Given the description of an element on the screen output the (x, y) to click on. 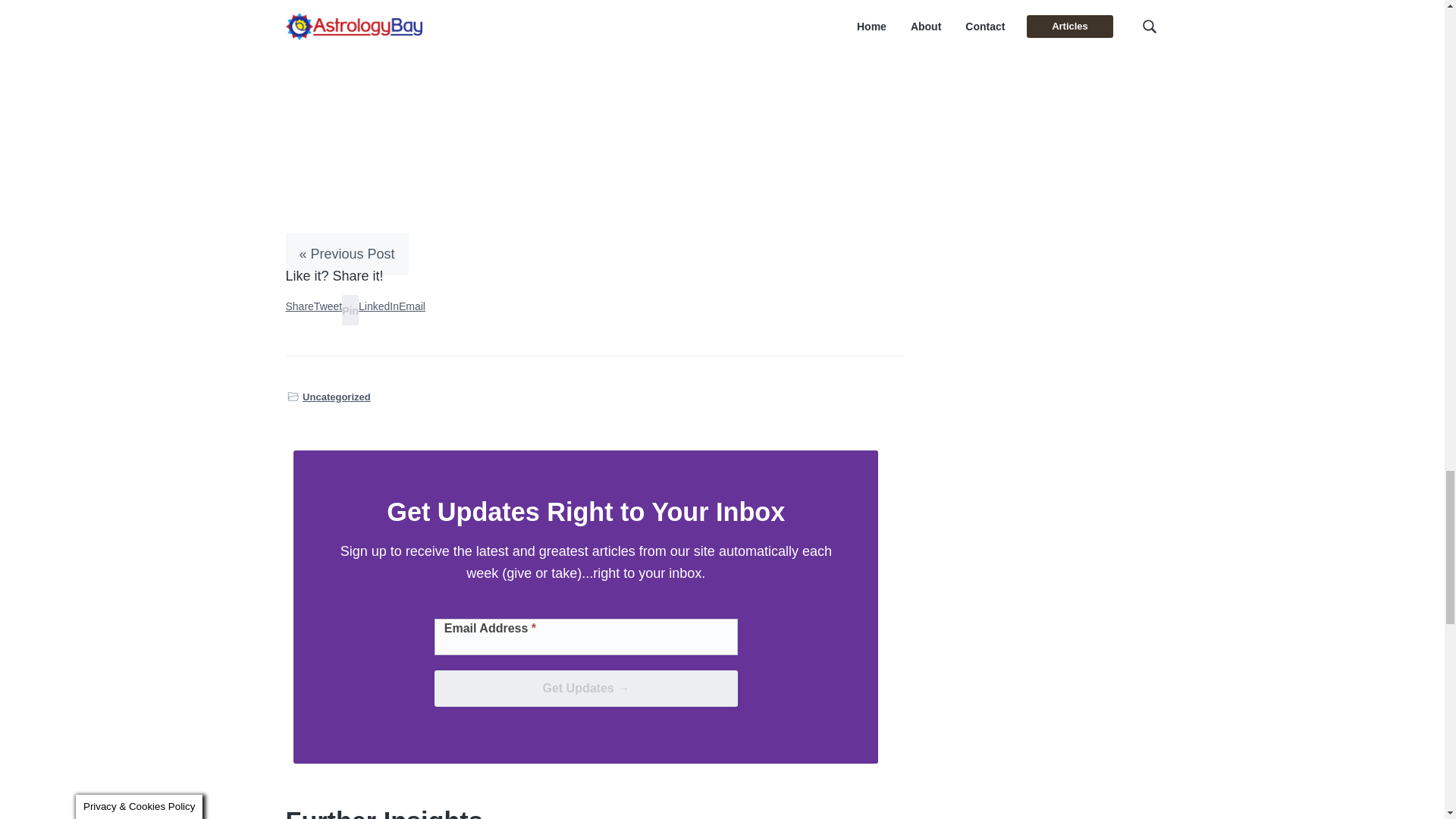
Send over email (411, 306)
Tweet (328, 306)
Share on Facebook (299, 306)
Share on Twitter (328, 306)
Email (411, 306)
Share on LinkedIn (378, 306)
LinkedIn (378, 306)
Uncategorized (336, 396)
Share (299, 306)
